Given the description of an element on the screen output the (x, y) to click on. 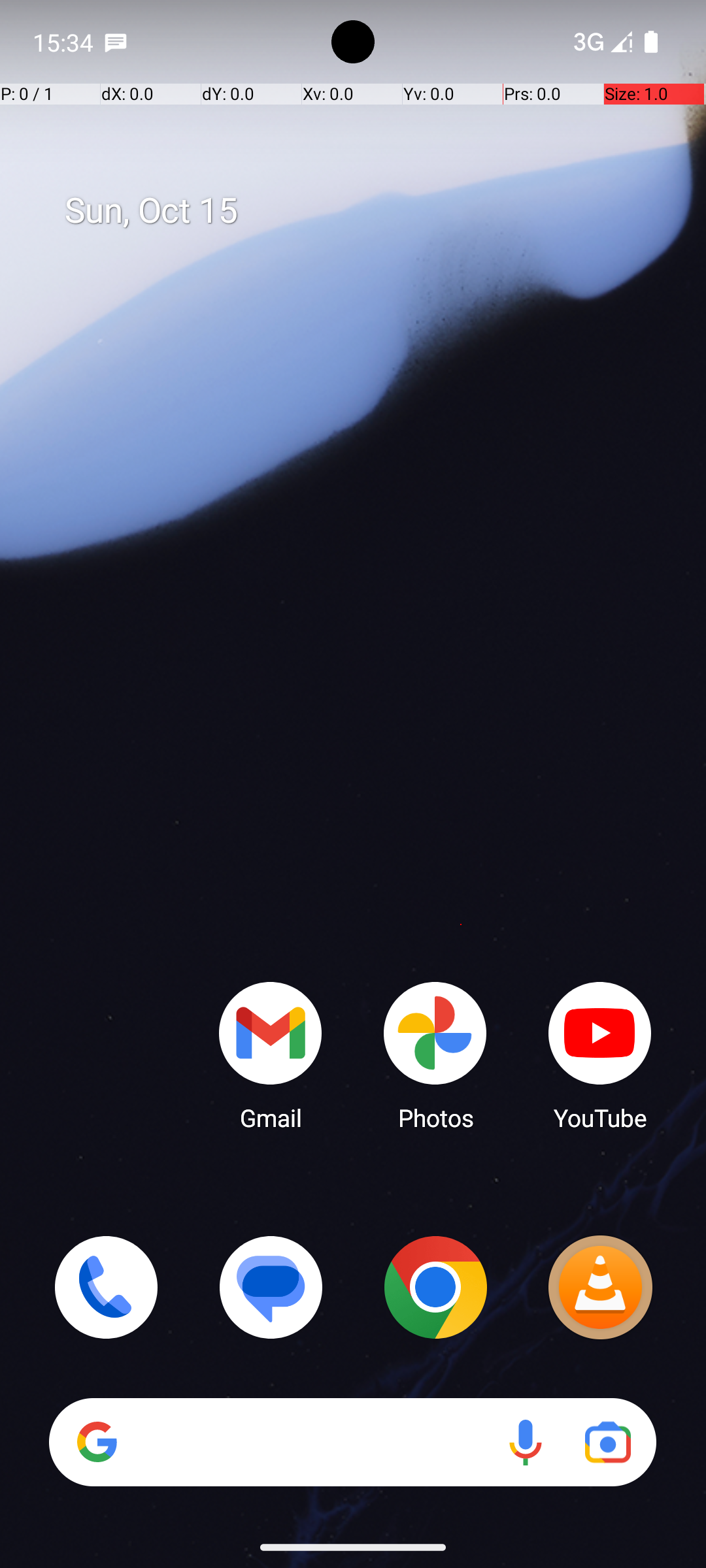
VLC Element type: android.widget.TextView (599, 1287)
